Given the description of an element on the screen output the (x, y) to click on. 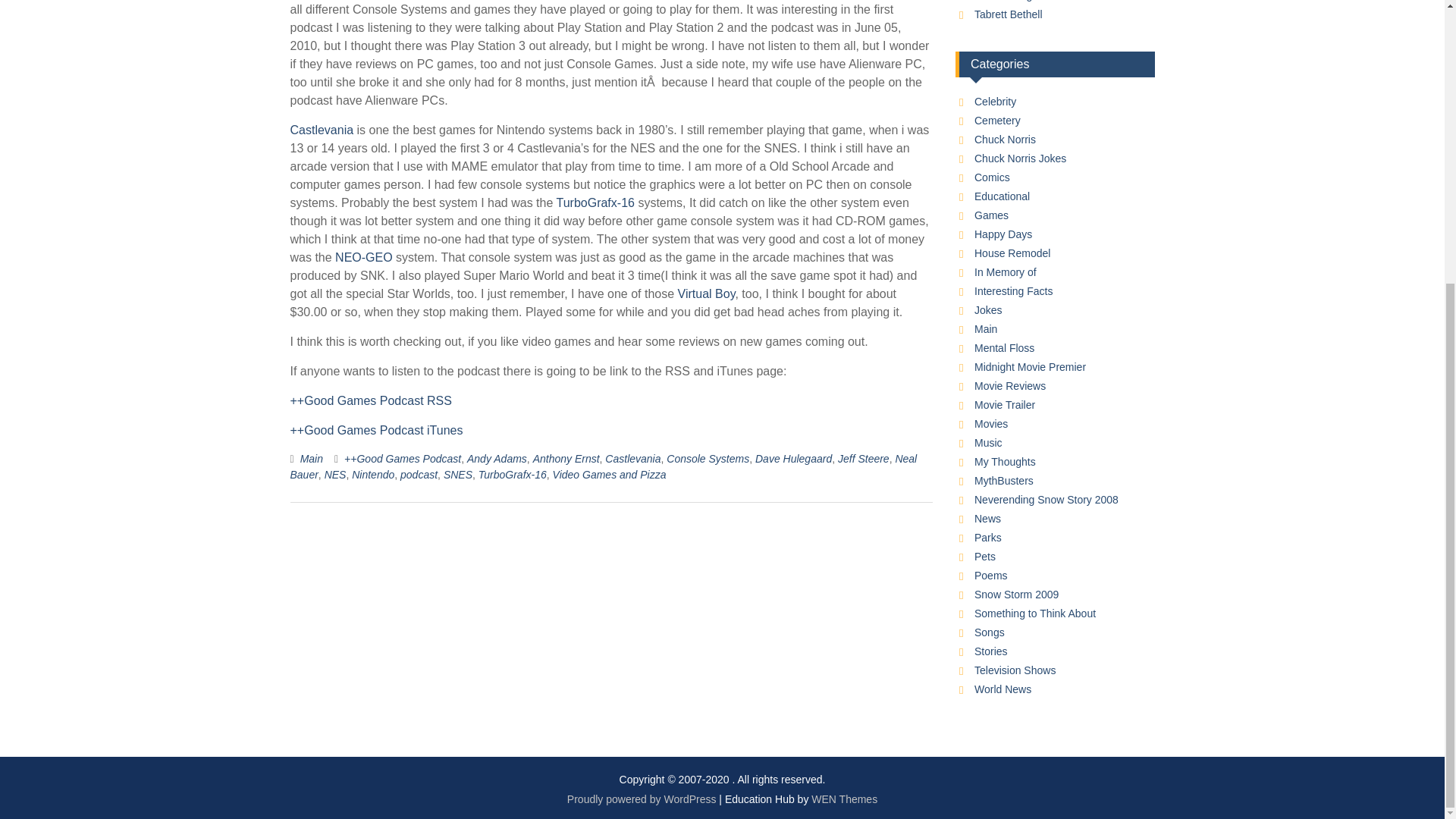
Andy Adams (497, 458)
Neal Bauer (603, 466)
Video Games and Pizza iTunes (376, 430)
Nintendo (373, 474)
Main (311, 458)
NEO-GEO (365, 256)
Castlevania (633, 458)
TurboGrafx-16 (513, 474)
Castlevania (321, 129)
TurboGrafx-16 (594, 202)
